Given the description of an element on the screen output the (x, y) to click on. 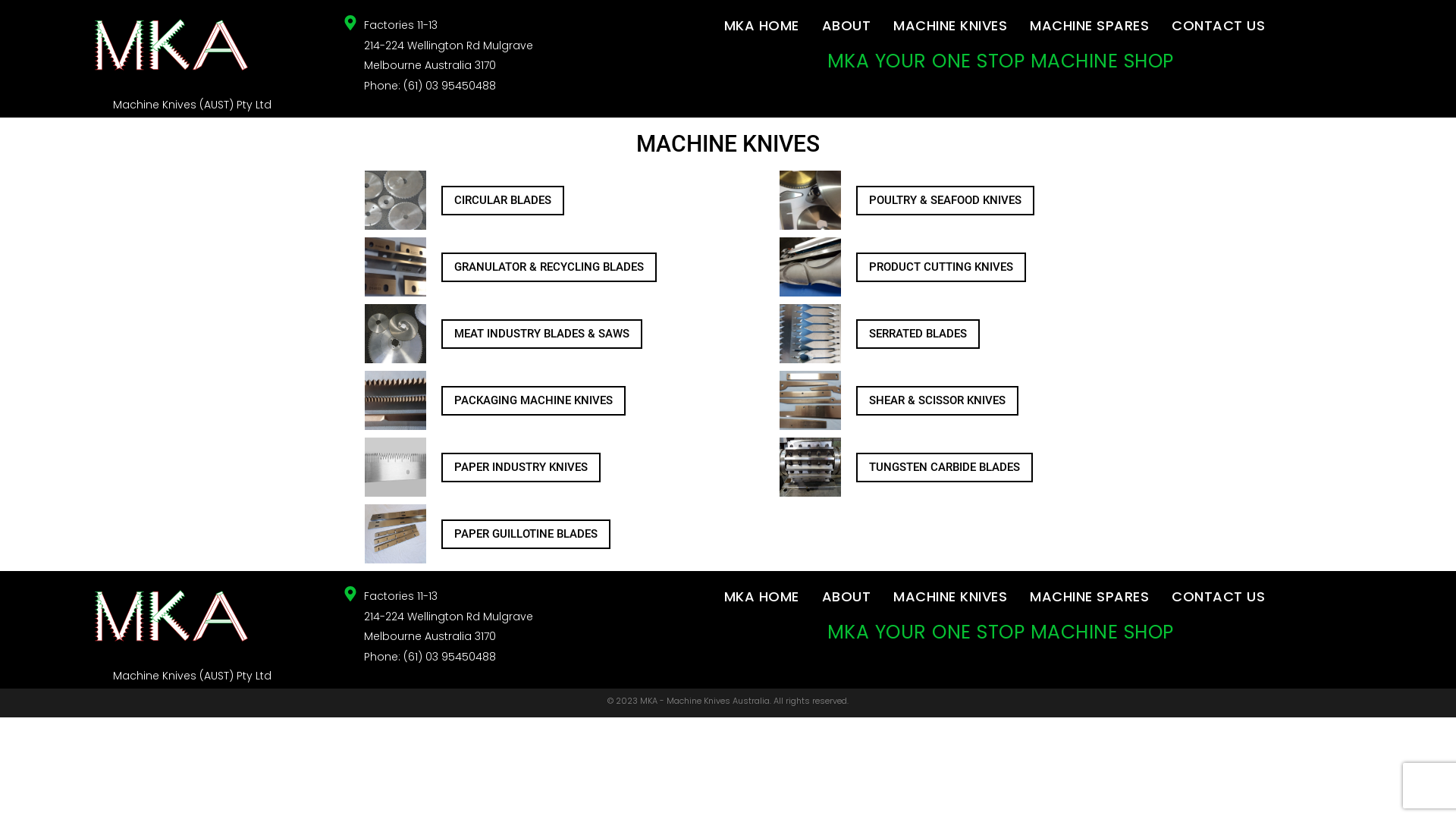
PAPER GUILLOTINE BLADES Element type: text (525, 534)
MACHINE SPARES Element type: text (1089, 25)
PAPER INDUSTRY KNIVES Element type: text (520, 467)
MKA HOME Element type: text (761, 596)
MACHINE KNIVES Element type: text (949, 25)
PACKAGING MACHINE KNIVES Element type: text (533, 400)
MEAT INDUSTRY BLADES & SAWS Element type: text (541, 333)
ABOUT Element type: text (846, 25)
TUNGSTEN CARBIDE BLADES Element type: text (944, 467)
CIRCULAR BLADES Element type: text (502, 200)
PRODUCT CUTTING KNIVES Element type: text (941, 267)
MKA HOME Element type: text (761, 25)
POULTRY & SEAFOOD KNIVES Element type: text (945, 200)
CONTACT US Element type: text (1218, 25)
SHEAR & SCISSOR KNIVES Element type: text (937, 400)
SERRATED BLADES Element type: text (917, 333)
MACHINE KNIVES Element type: text (949, 596)
ABOUT Element type: text (846, 596)
MACHINE SPARES Element type: text (1089, 596)
GRANULATOR & RECYCLING BLADES Element type: text (548, 267)
CONTACT US Element type: text (1218, 596)
Machine Knives (AUST) Pty Ltd Element type: text (191, 104)
Machine Knives (AUST) Pty Ltd Element type: text (191, 675)
